Given the description of an element on the screen output the (x, y) to click on. 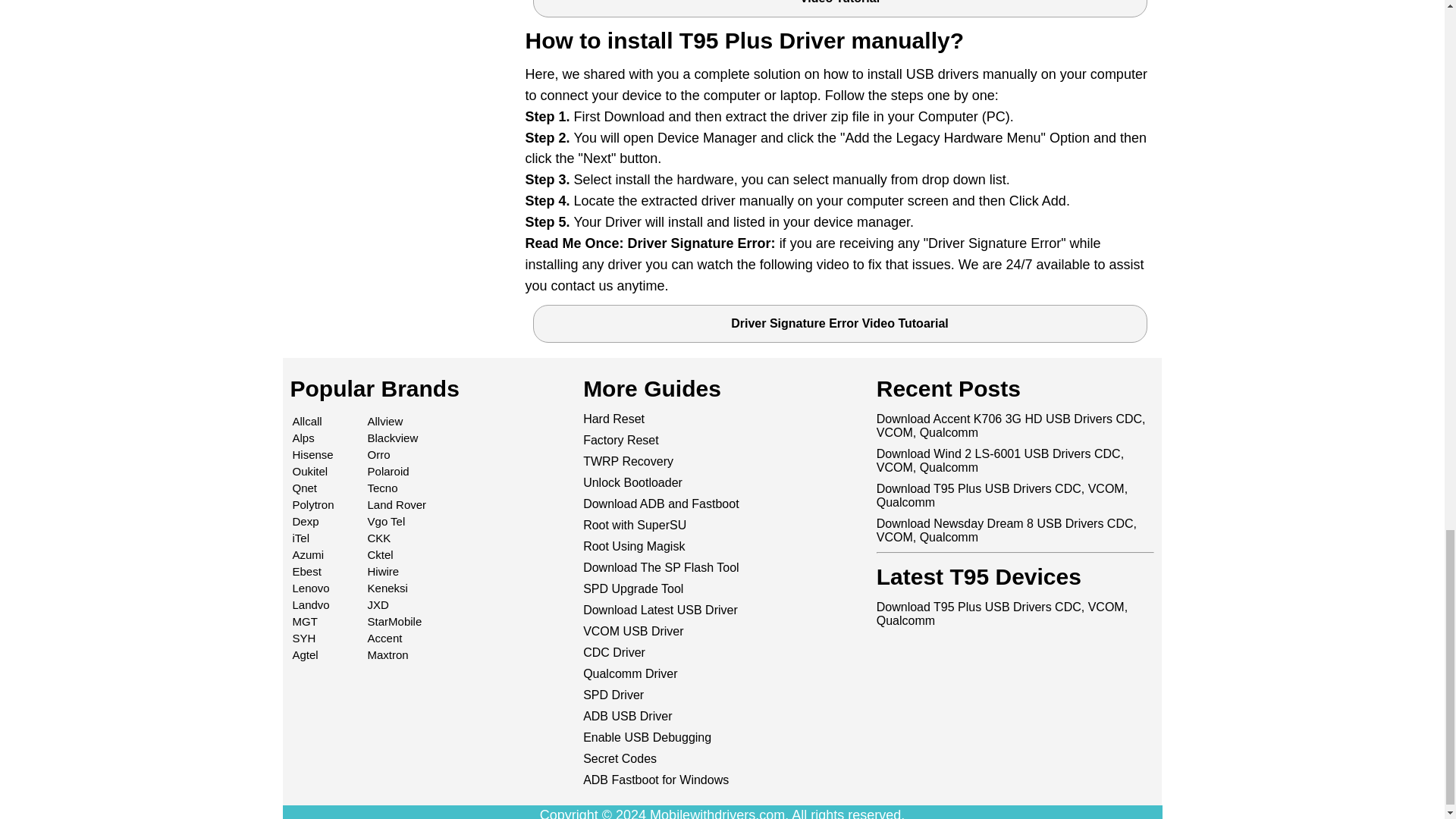
Allcall (306, 420)
Allview (385, 420)
Video Tutorial (839, 8)
Driver Signature Error Video Tutoarial (839, 323)
